Given the description of an element on the screen output the (x, y) to click on. 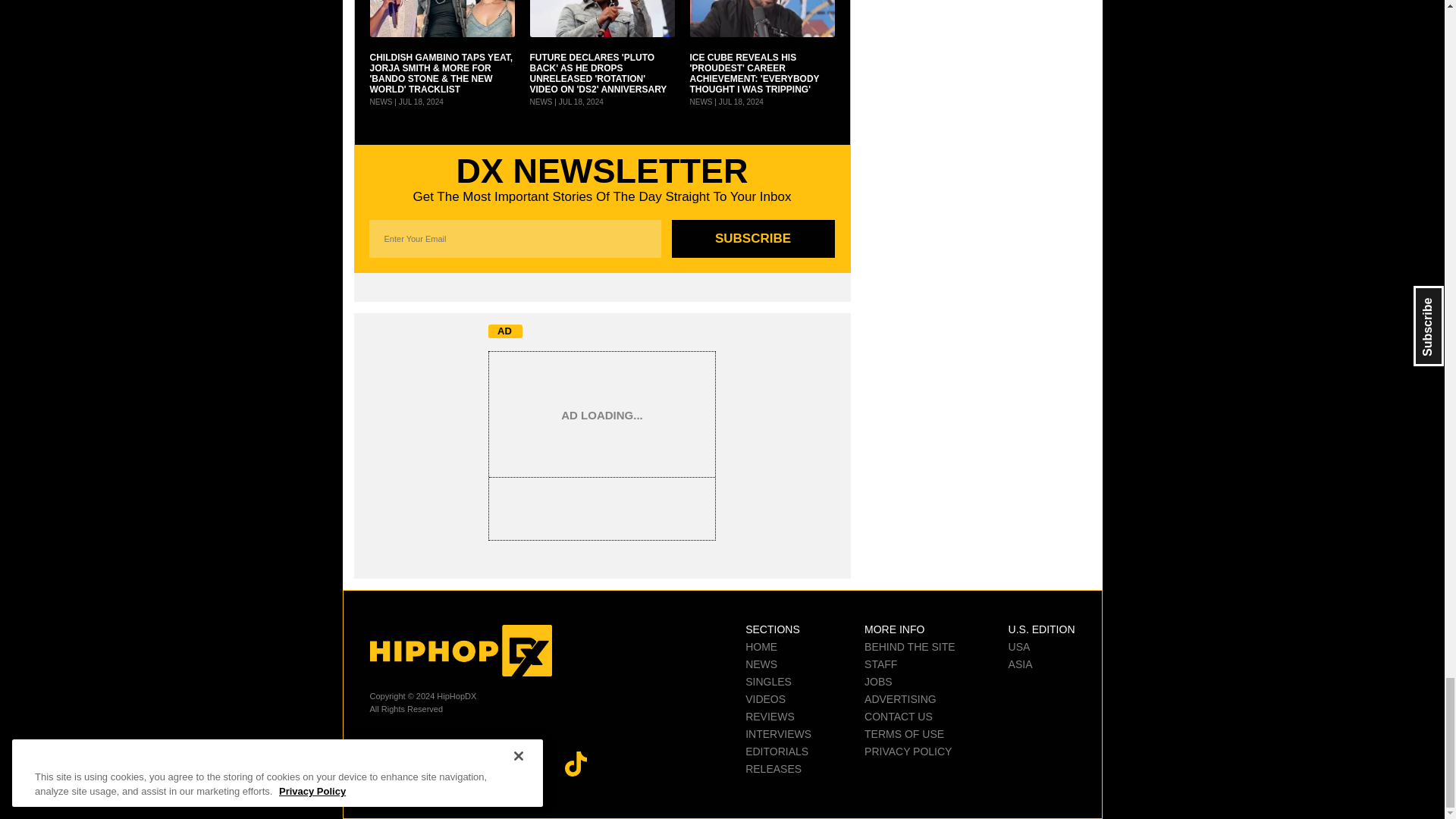
HipHopDX (460, 650)
